Given the description of an element on the screen output the (x, y) to click on. 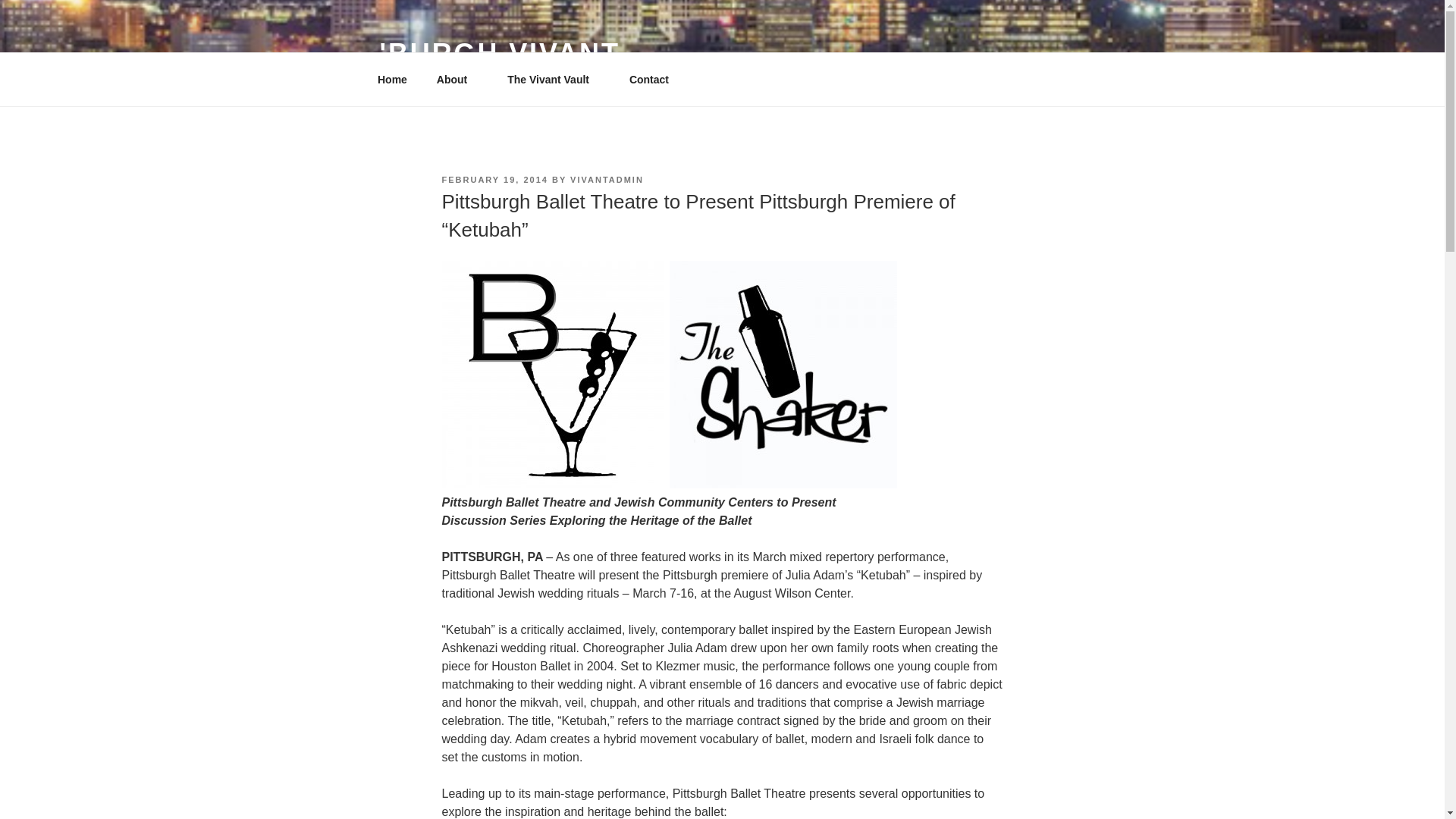
About (456, 78)
FEBRUARY 19, 2014 (494, 179)
Home (392, 78)
Contact (648, 78)
The Vivant Vault (553, 78)
'BURGH VIVANT (499, 52)
VIVANTADMIN (606, 179)
